Given the description of an element on the screen output the (x, y) to click on. 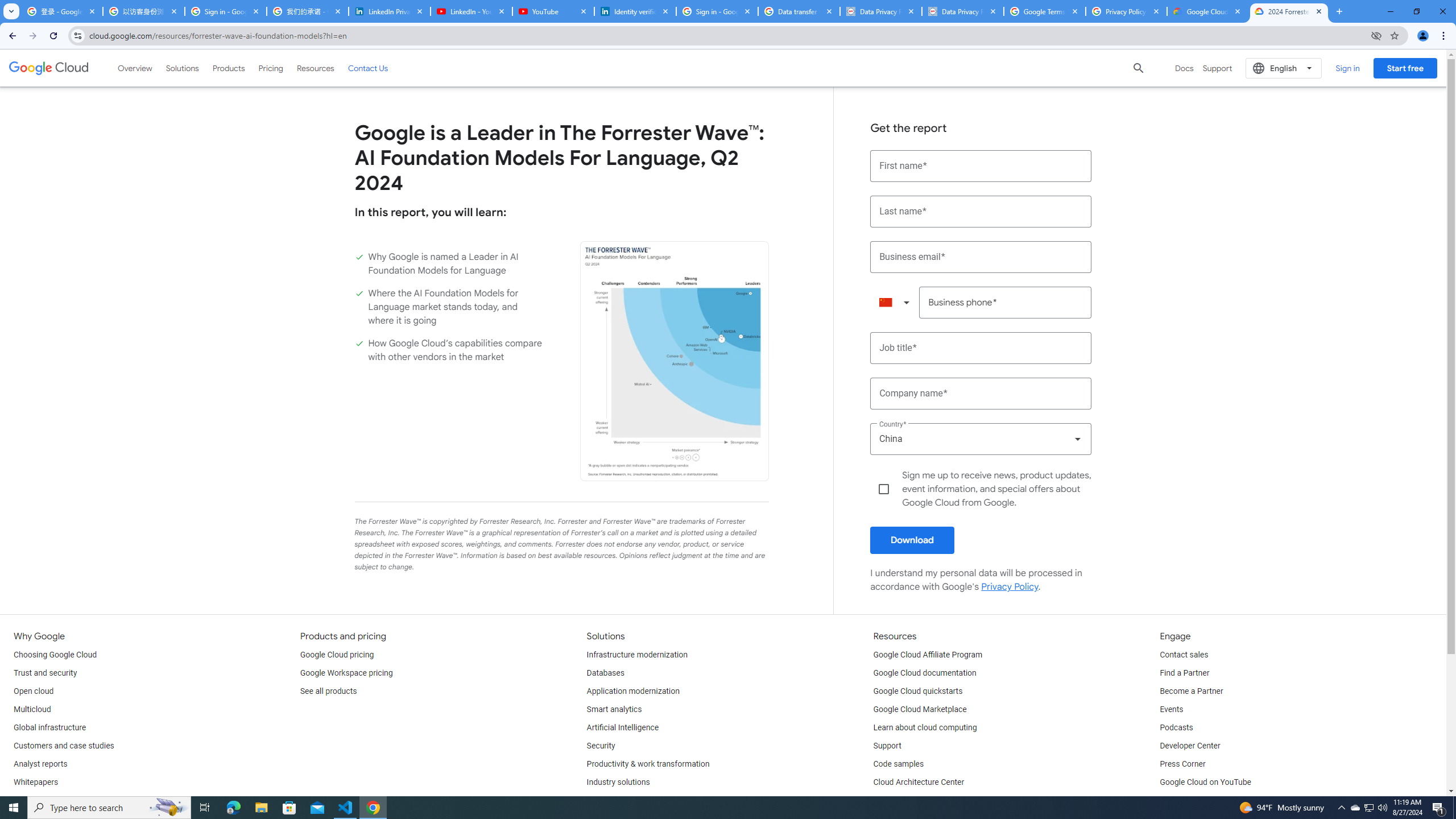
YouTube (552, 11)
Customers and case studies (64, 746)
Code samples (898, 764)
Podcasts (1175, 728)
Business email* (981, 256)
Become a Partner (1190, 691)
Google Cloud pricing (336, 655)
Find a Partner (1183, 673)
